Given the description of an element on the screen output the (x, y) to click on. 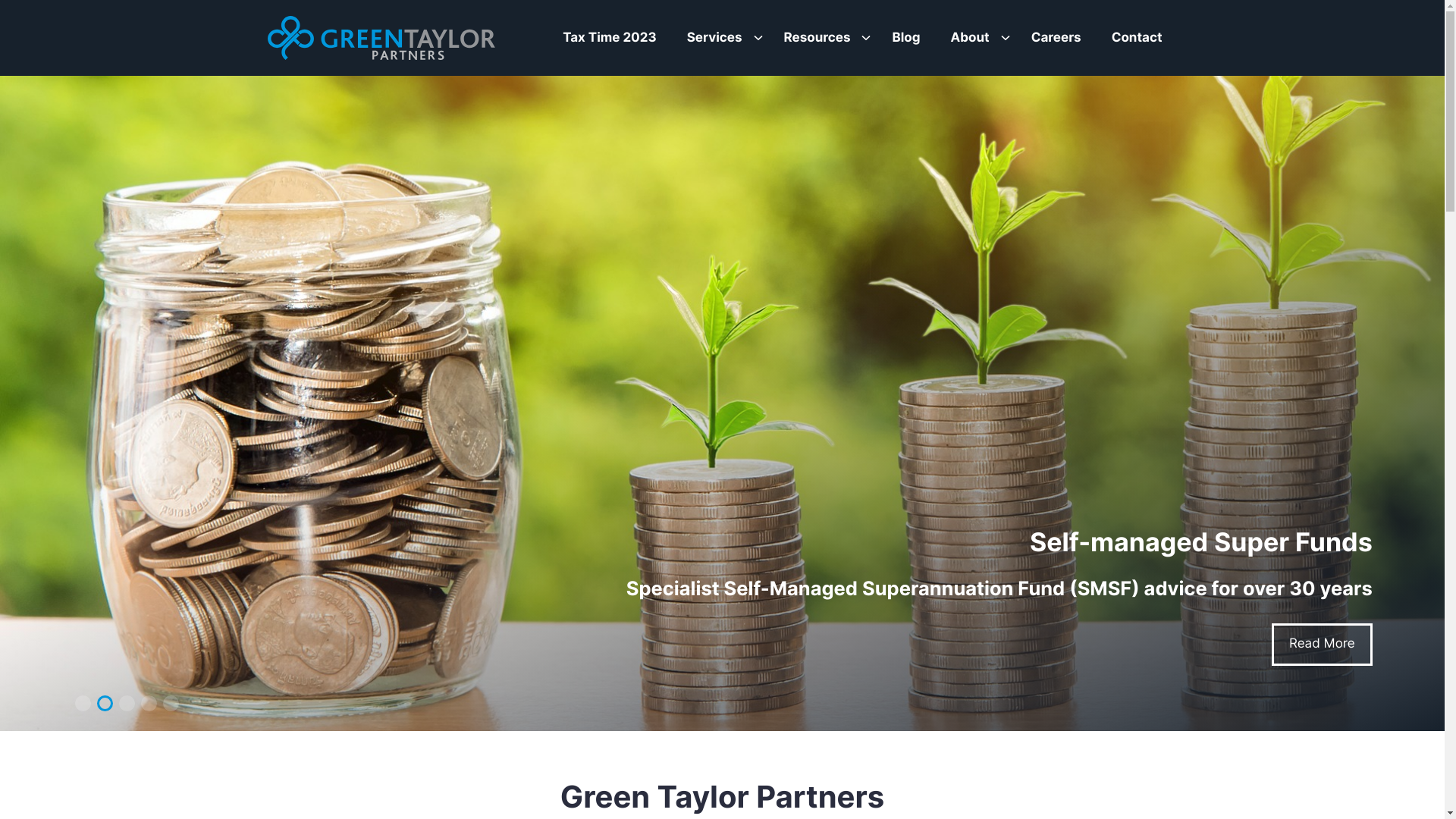
Tax Time 2023 Element type: text (609, 37)
Resources Element type: text (815, 37)
Careers Element type: text (1056, 37)
Green Taylor Partners Element type: text (380, 37)
Blog Element type: text (905, 37)
About Element type: text (968, 37)
Read More Element type: text (1321, 644)
Services Element type: text (712, 37)
Skip to content Element type: text (3, 3)
Contact Element type: text (1136, 37)
